Given the description of an element on the screen output the (x, y) to click on. 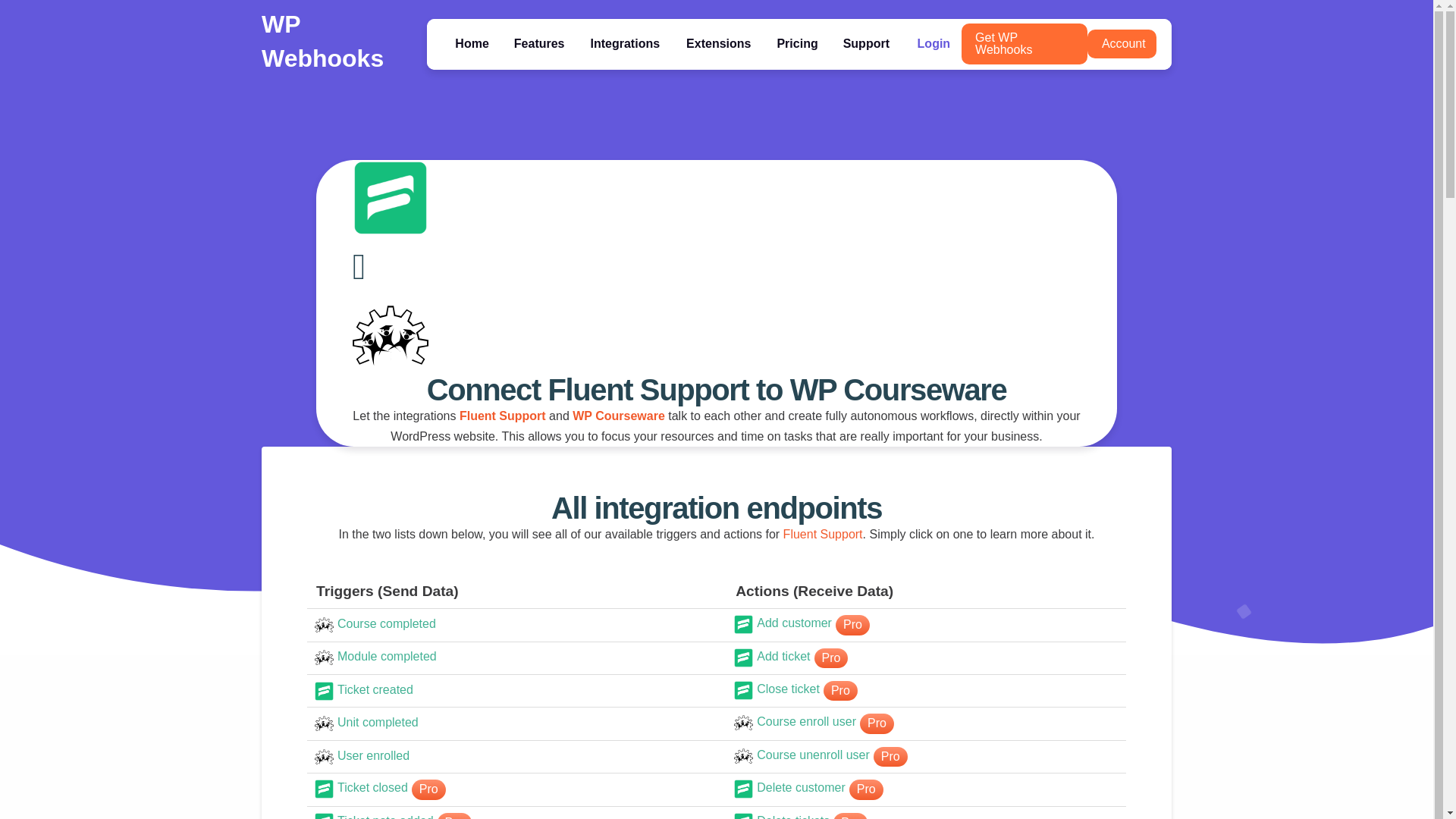
Visit the Unit completed trigger (516, 723)
Account (1121, 43)
Visit the Course enroll user action (925, 723)
Visit the User enrolled trigger (516, 756)
Support (865, 43)
Take a look at the WP Courseware integration (618, 415)
Visit the Ticket created trigger (516, 691)
Module completed (516, 657)
Visit the Close ticket action (925, 690)
Integrations (625, 43)
